Given the description of an element on the screen output the (x, y) to click on. 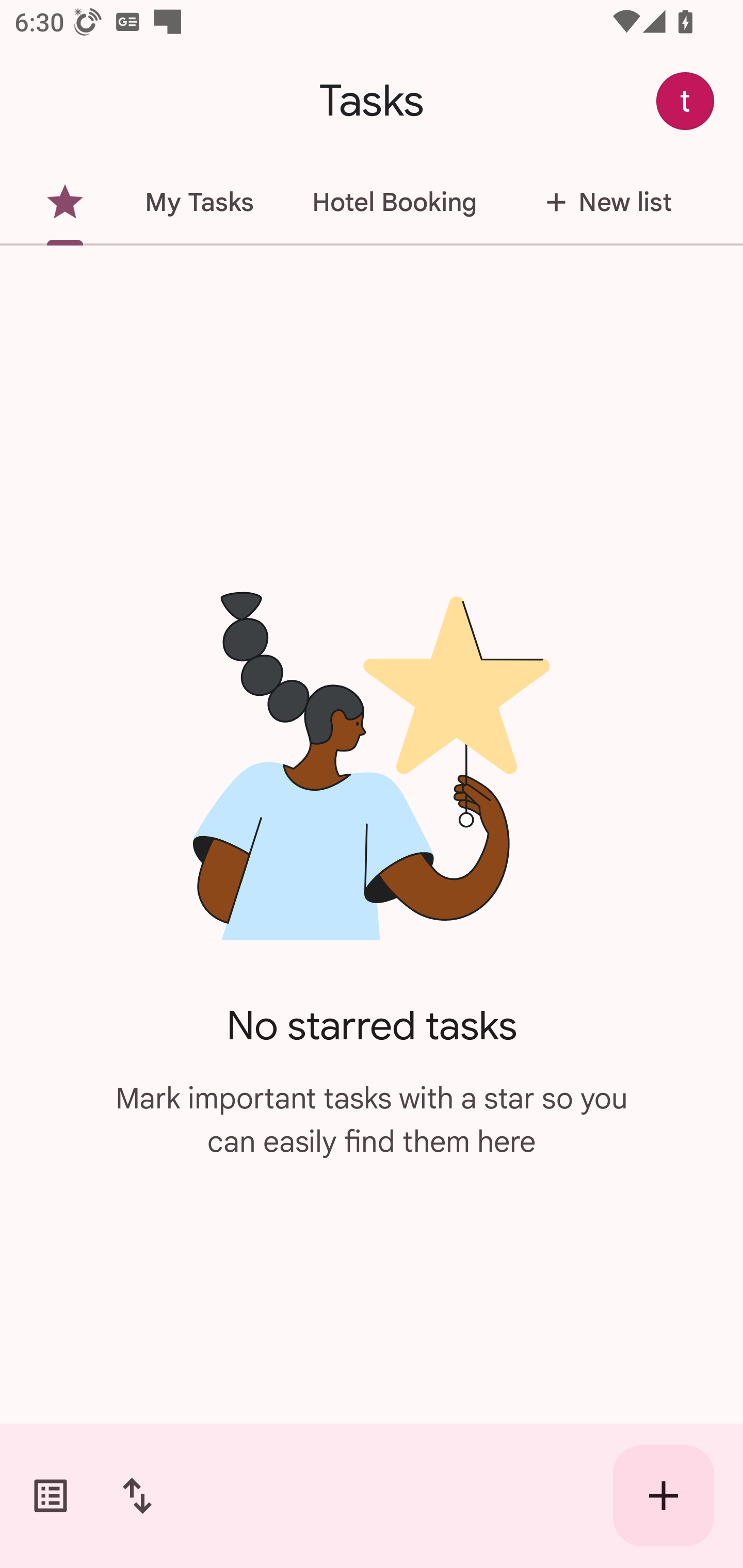
My Tasks (199, 202)
Hotel Booking (394, 202)
New list (602, 202)
Switch task lists (50, 1495)
Create new task (663, 1495)
Change sort order (136, 1495)
